Given the description of an element on the screen output the (x, y) to click on. 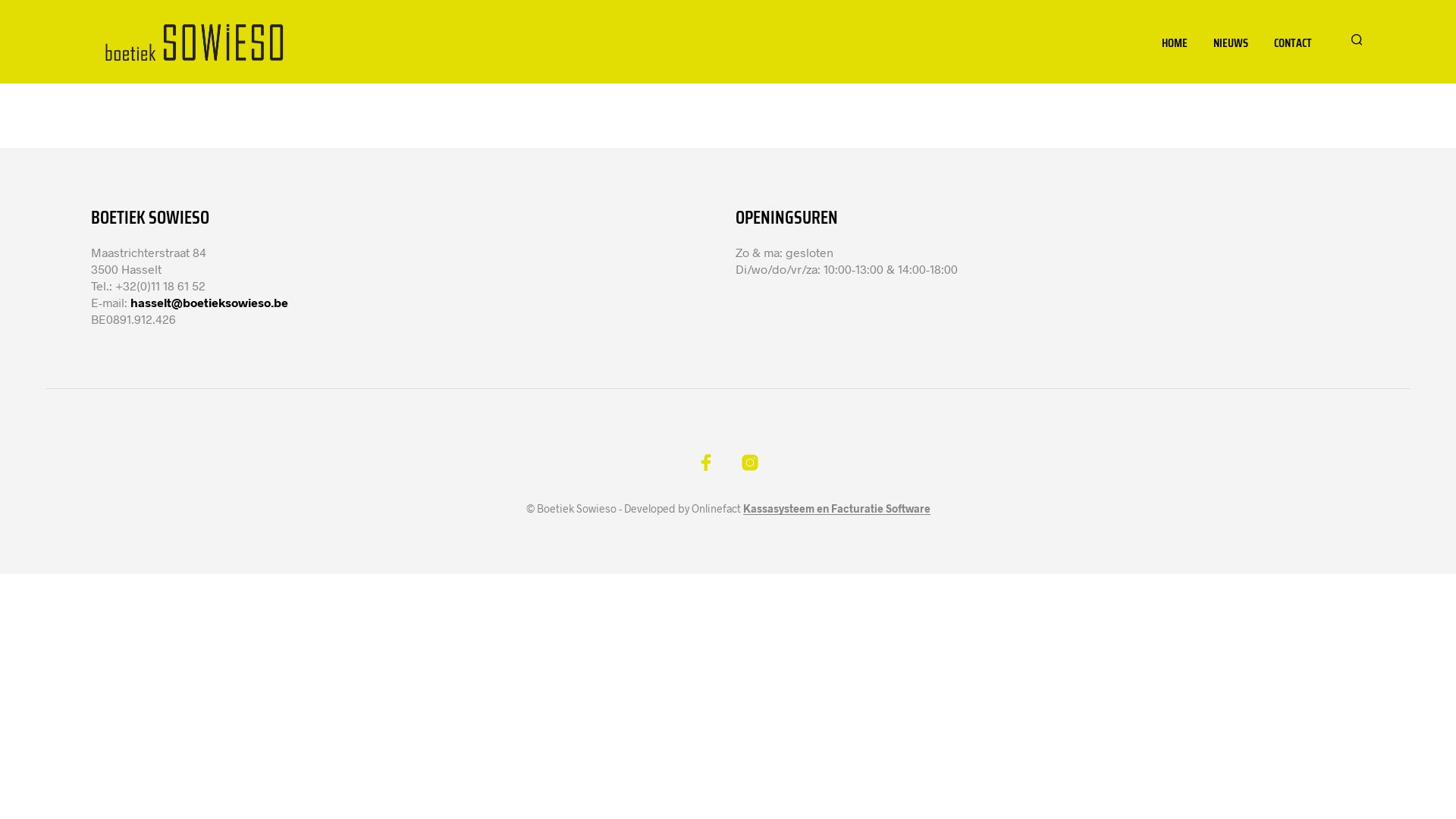
Kassasysteem en Facturatie Software Element type: text (836, 508)
NIEUWS Element type: text (1230, 42)
HOME Element type: text (1174, 42)
CONTACT Element type: text (1292, 42)
hasselt@boetieksowieso.be Element type: text (209, 301)
